Given the description of an element on the screen output the (x, y) to click on. 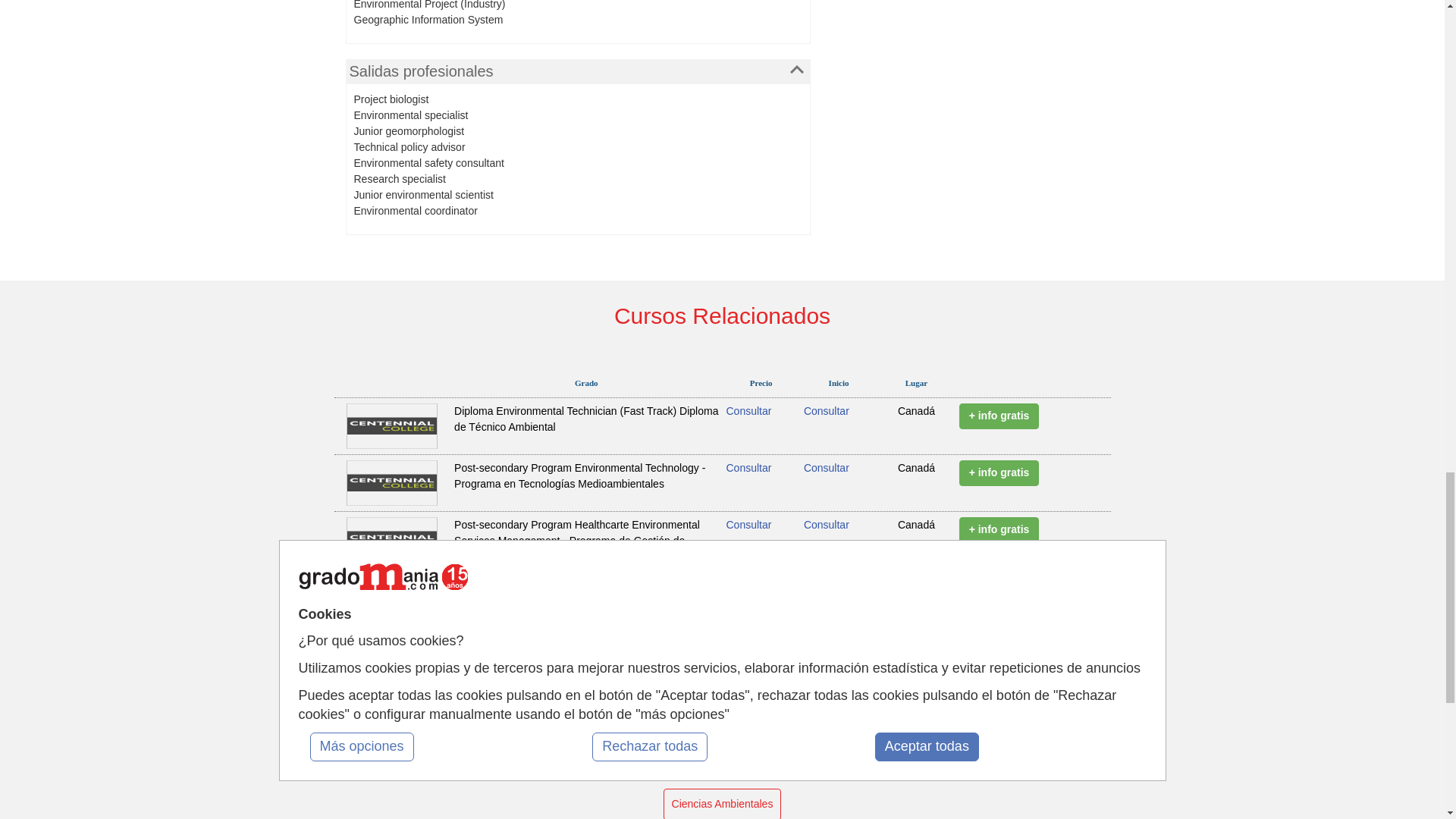
Estudios de Ciencias Ambientales (722, 803)
Ciencias Ambientales (722, 803)
